Given the description of an element on the screen output the (x, y) to click on. 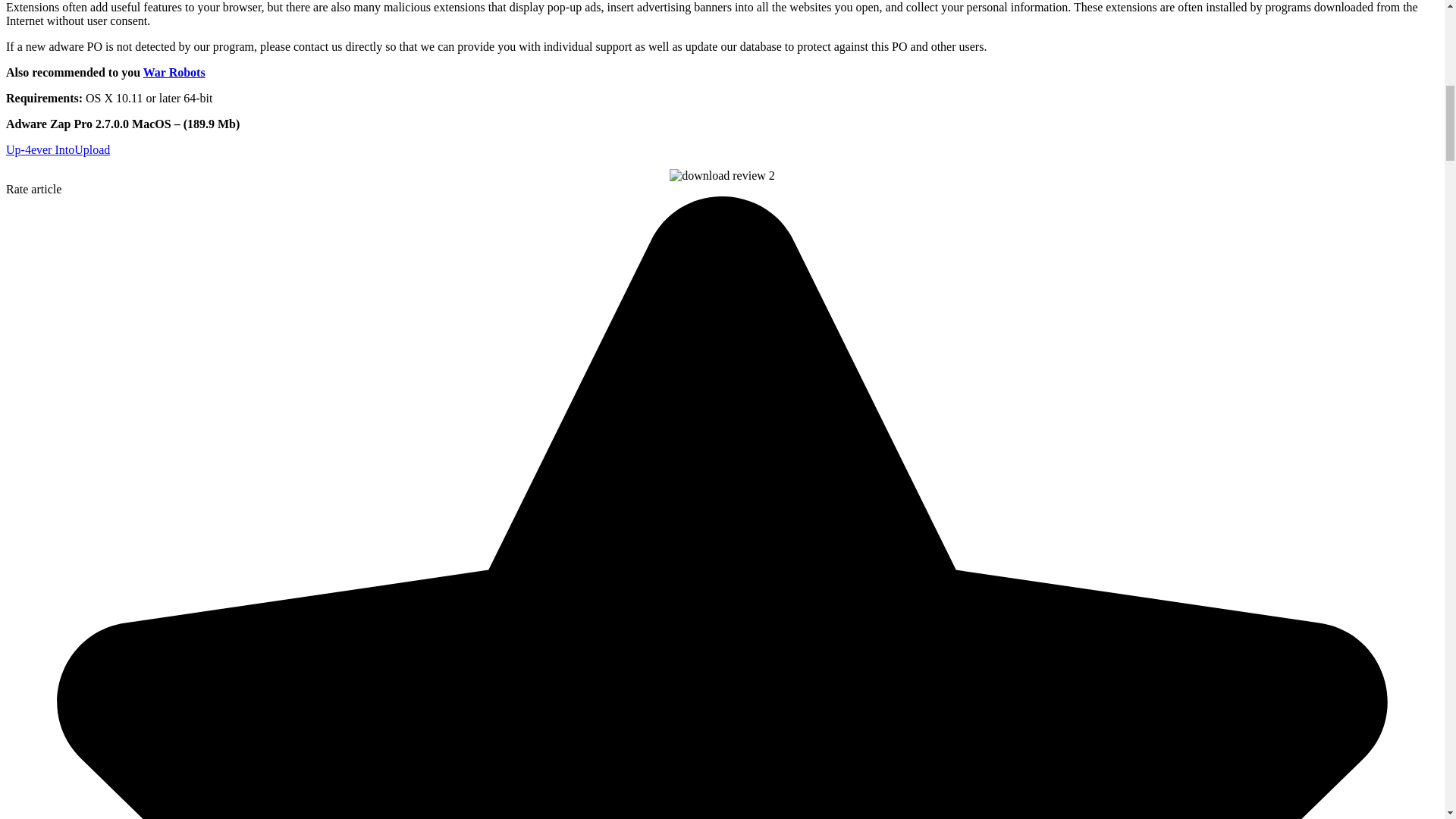
War Robots (173, 72)
Up-4ever (30, 149)
IntoUpload (82, 149)
